Given the description of an element on the screen output the (x, y) to click on. 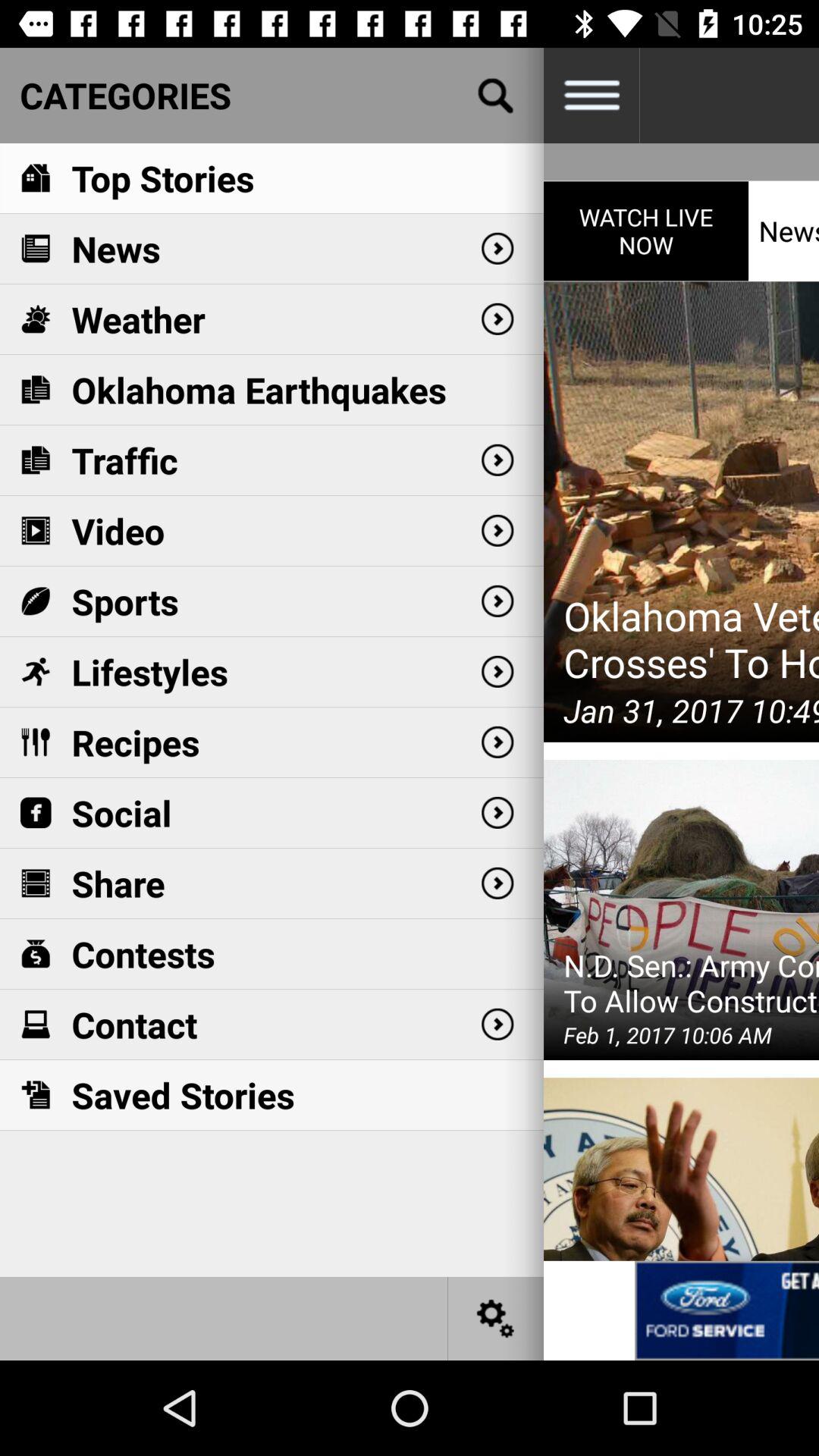
open advertisement (726, 1310)
